Given the description of an element on the screen output the (x, y) to click on. 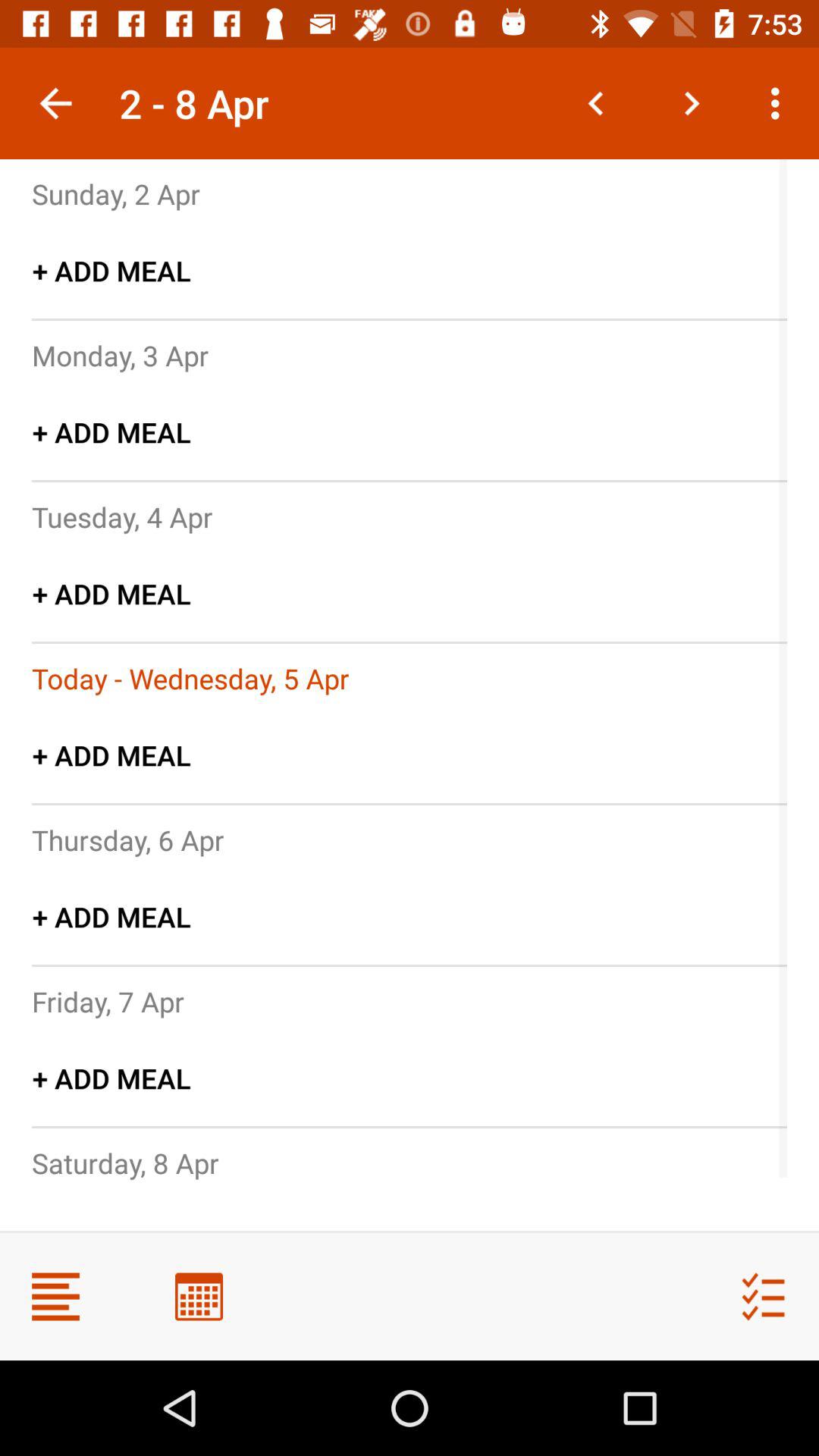
open item above + add meal (115, 193)
